Given the description of an element on the screen output the (x, y) to click on. 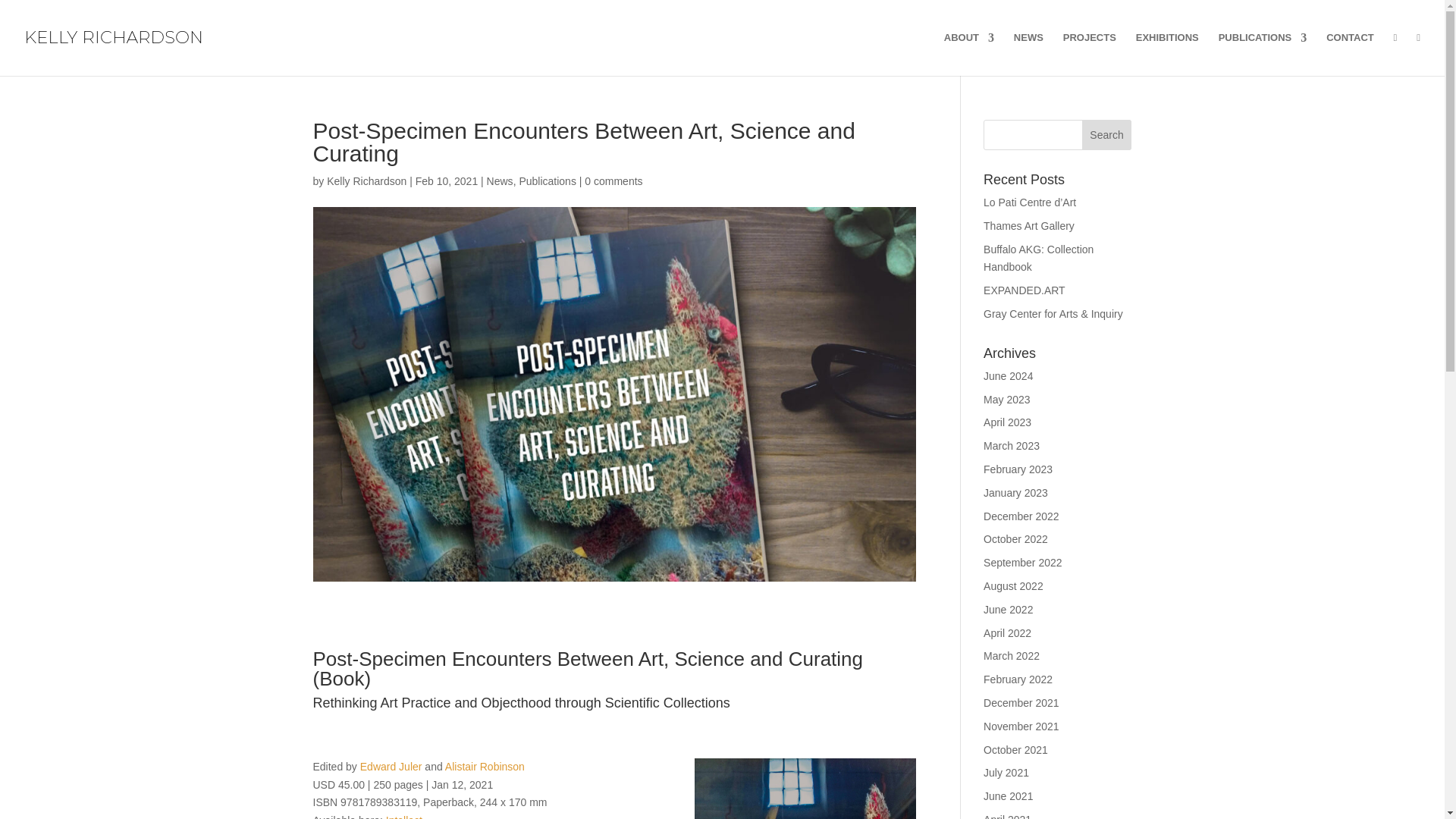
PUBLICATIONS (1262, 54)
Intellect (403, 816)
ABOUT (968, 54)
EXHIBITIONS (1166, 54)
Search (1106, 134)
PROJECTS (1089, 54)
Search (1106, 134)
News (499, 181)
Posts by Kelly Richardson (366, 181)
0 comments (613, 181)
